Given the description of an element on the screen output the (x, y) to click on. 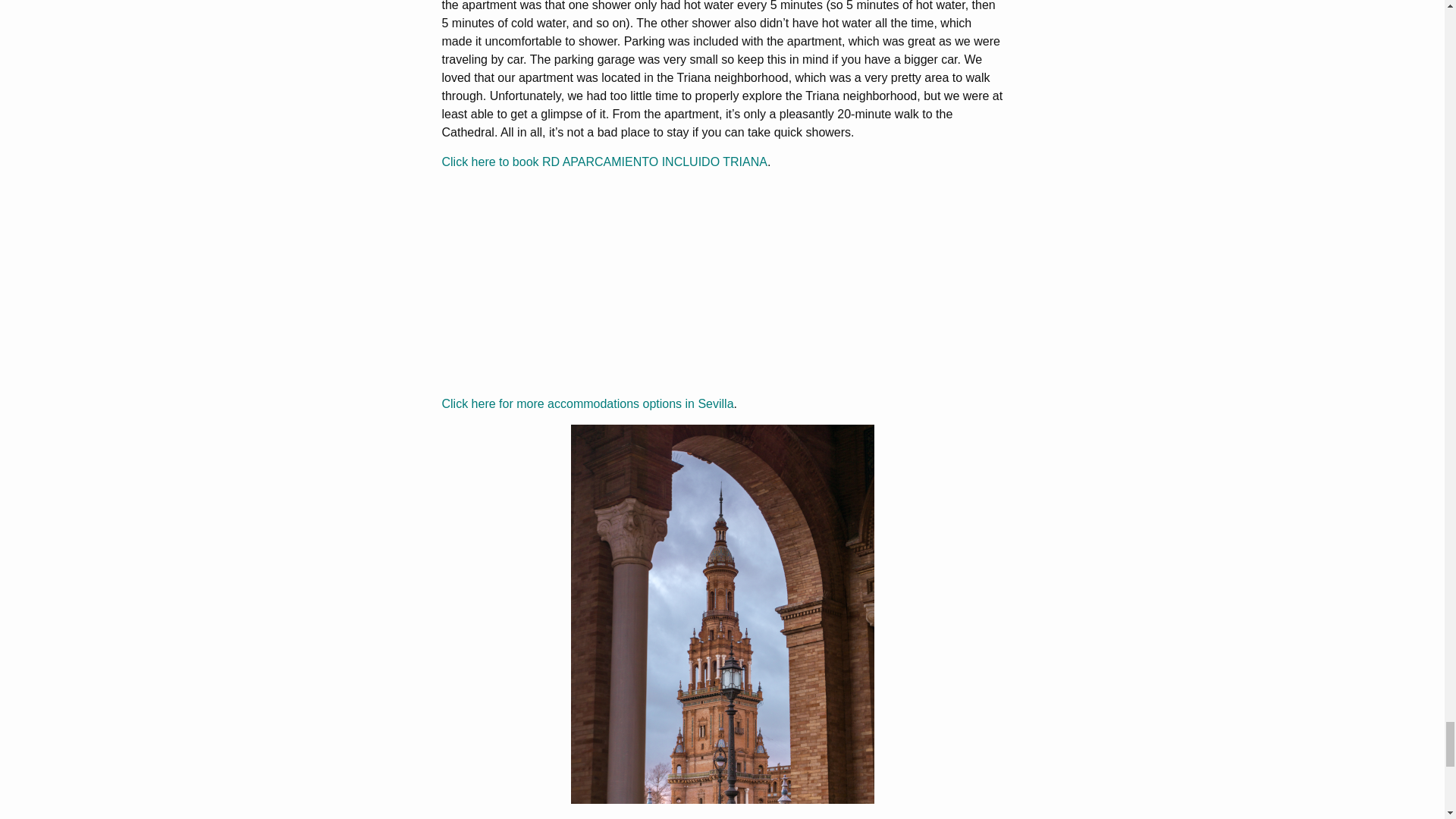
Click here to book RD APARCAMIENTO INCLUIDO TRIANA (604, 161)
Click here for more accommodations options in Sevilla (587, 403)
